Given the description of an element on the screen output the (x, y) to click on. 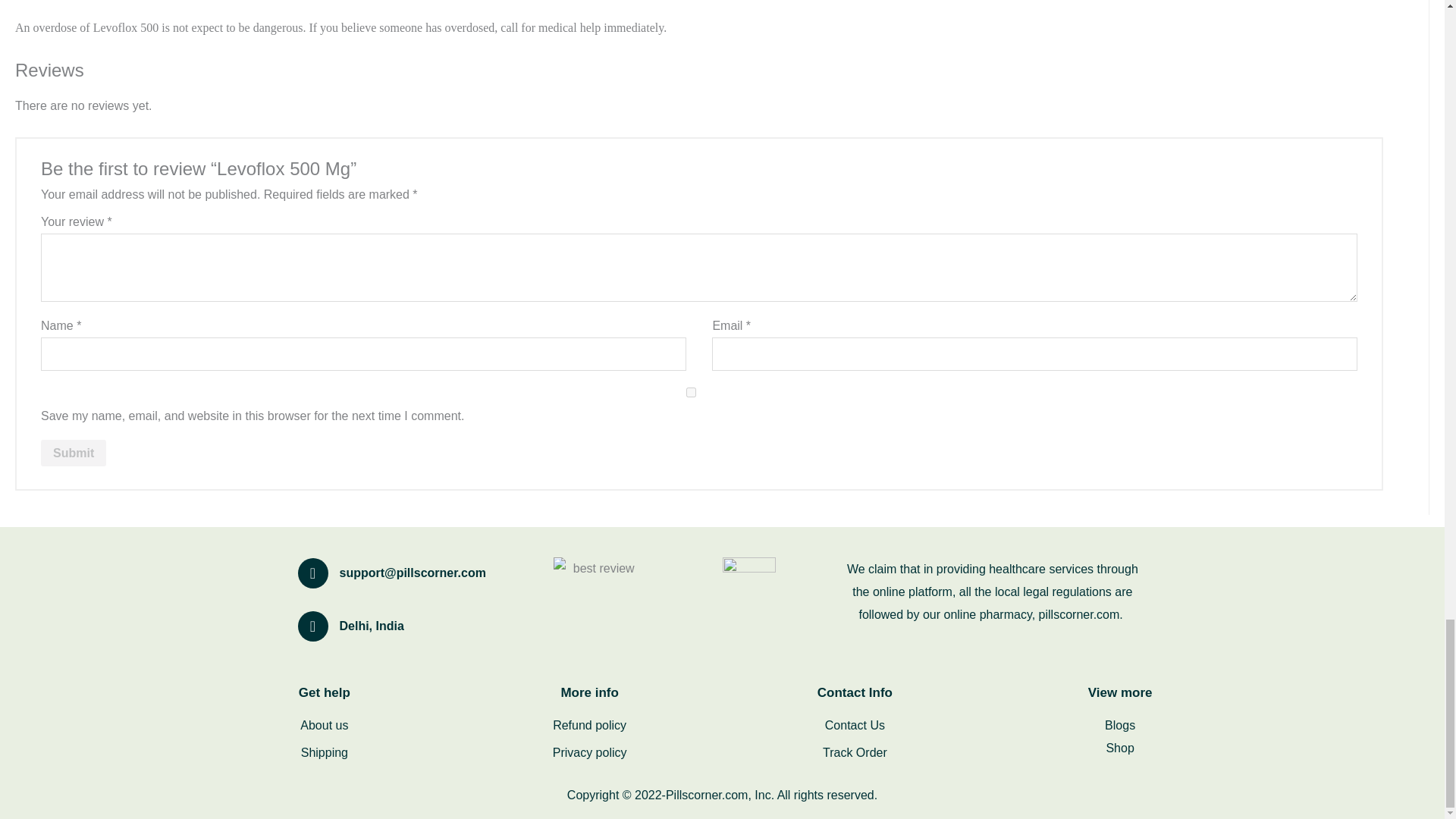
Submit (73, 452)
yes (690, 392)
